Given the description of an element on the screen output the (x, y) to click on. 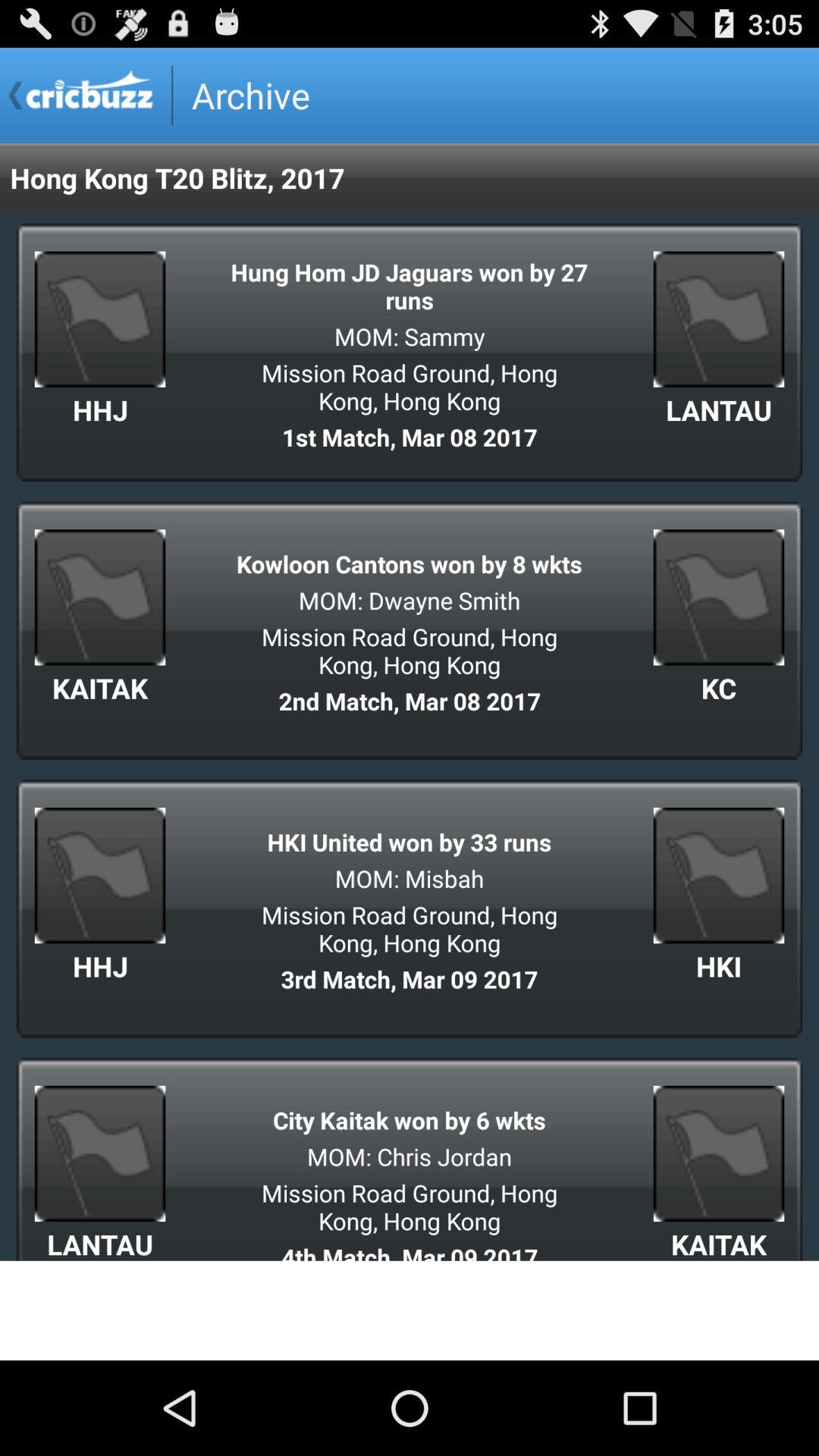
tap the app below the hong kong t20 item (409, 285)
